Given the description of an element on the screen output the (x, y) to click on. 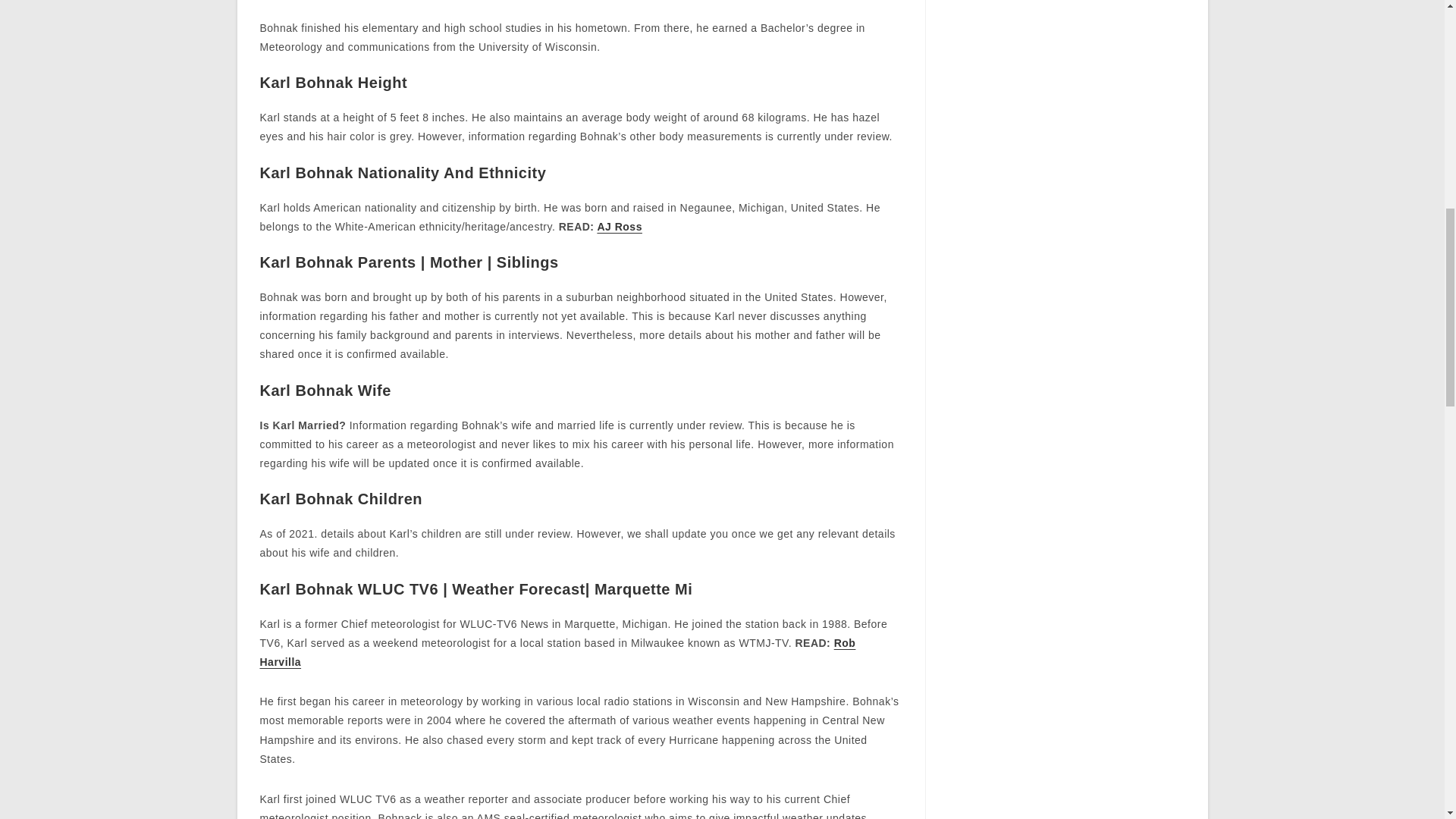
Rob Harvilla (557, 652)
AJ Ross (619, 226)
